Given the description of an element on the screen output the (x, y) to click on. 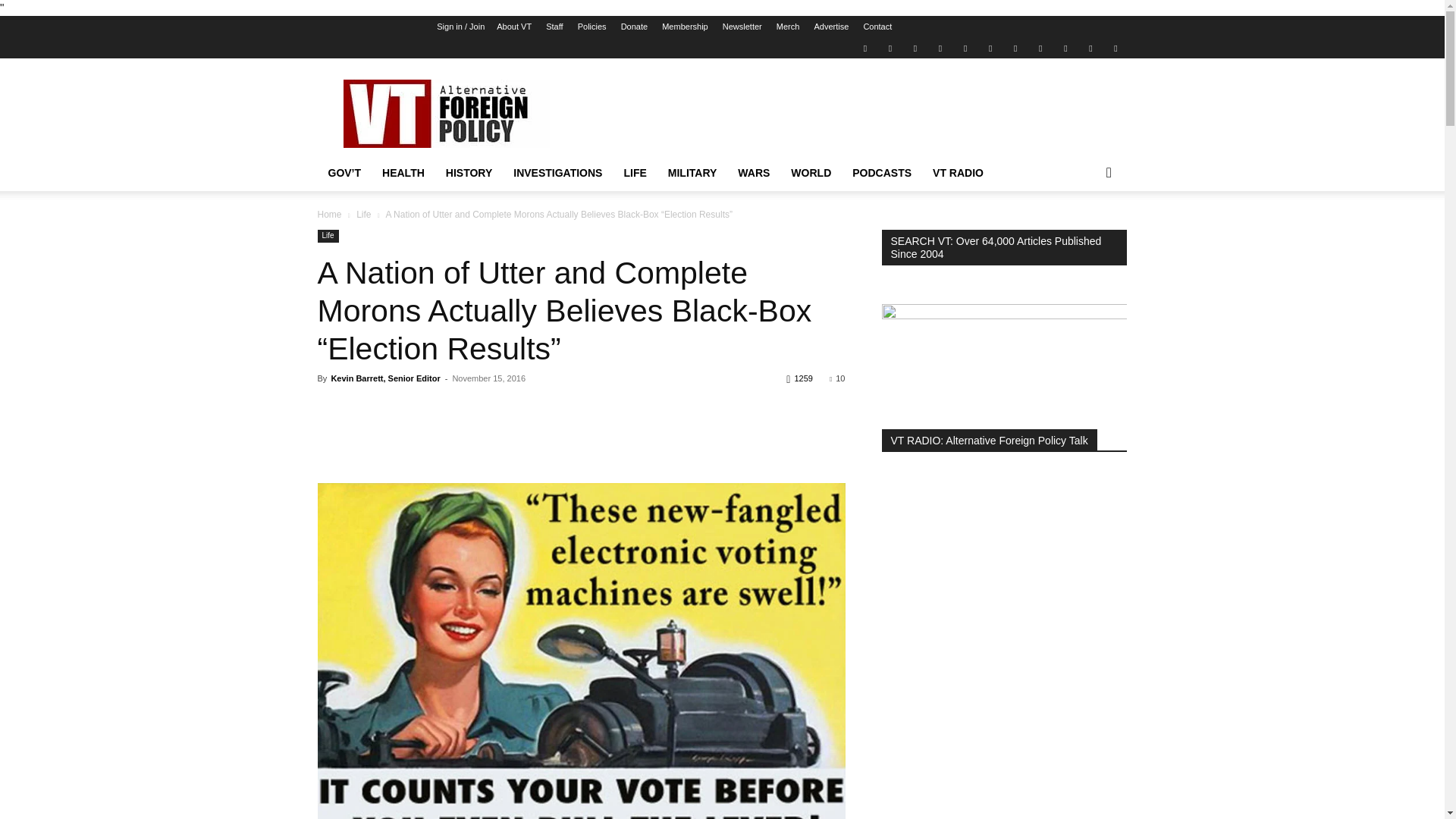
Donate (634, 26)
Reddit (940, 47)
Rumble (964, 47)
Merch (787, 26)
Advertise (830, 26)
Contact (877, 26)
Staff (554, 26)
Membership (684, 26)
About VT (513, 26)
Mail (915, 47)
Newsletter (741, 26)
Facebook (890, 47)
Policies (592, 26)
Blogger (864, 47)
